Given the description of an element on the screen output the (x, y) to click on. 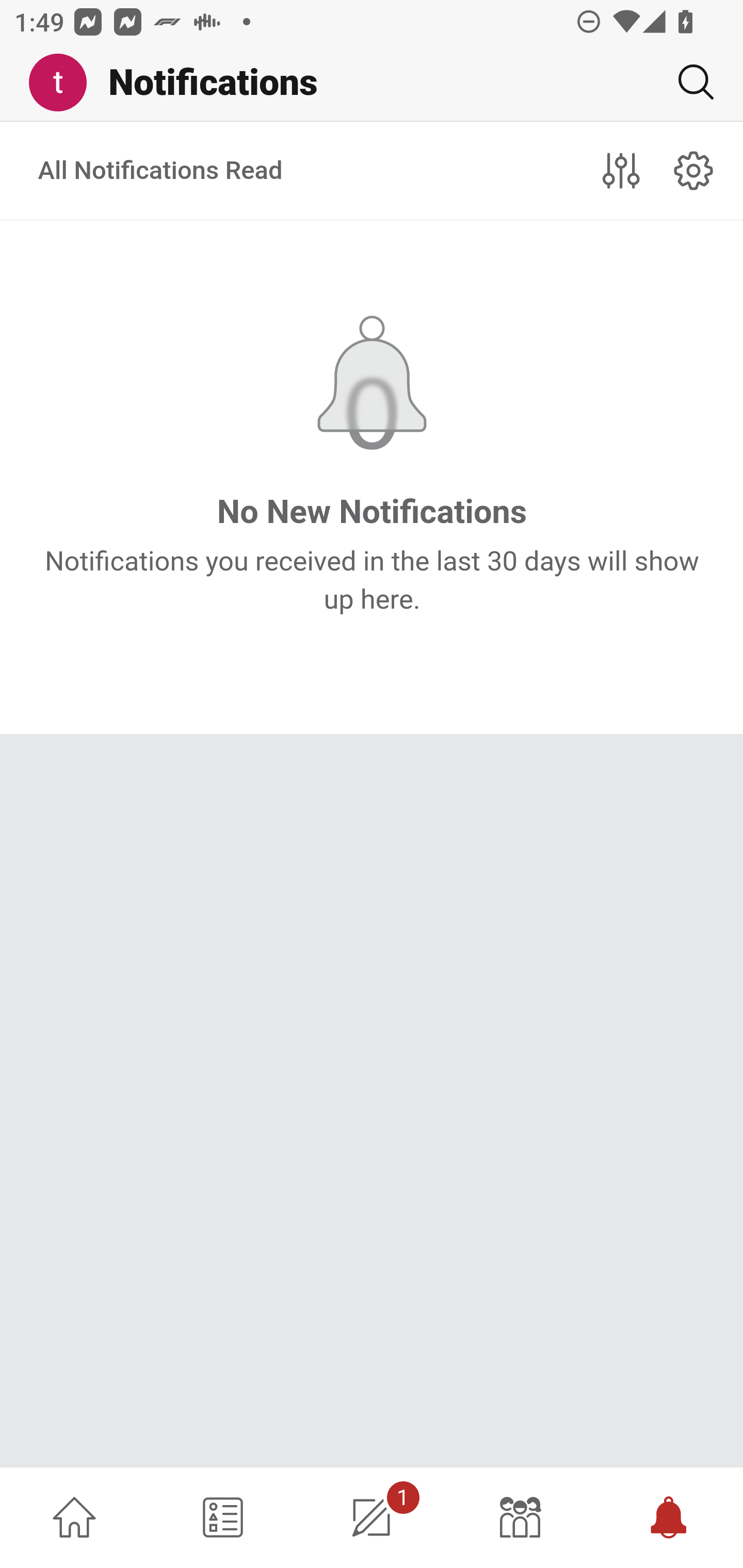
Me (64, 83)
Search (688, 82)
All Notifications Read (160, 171)
notifications# (693, 170)
1 (371, 1517)
